Given the description of an element on the screen output the (x, y) to click on. 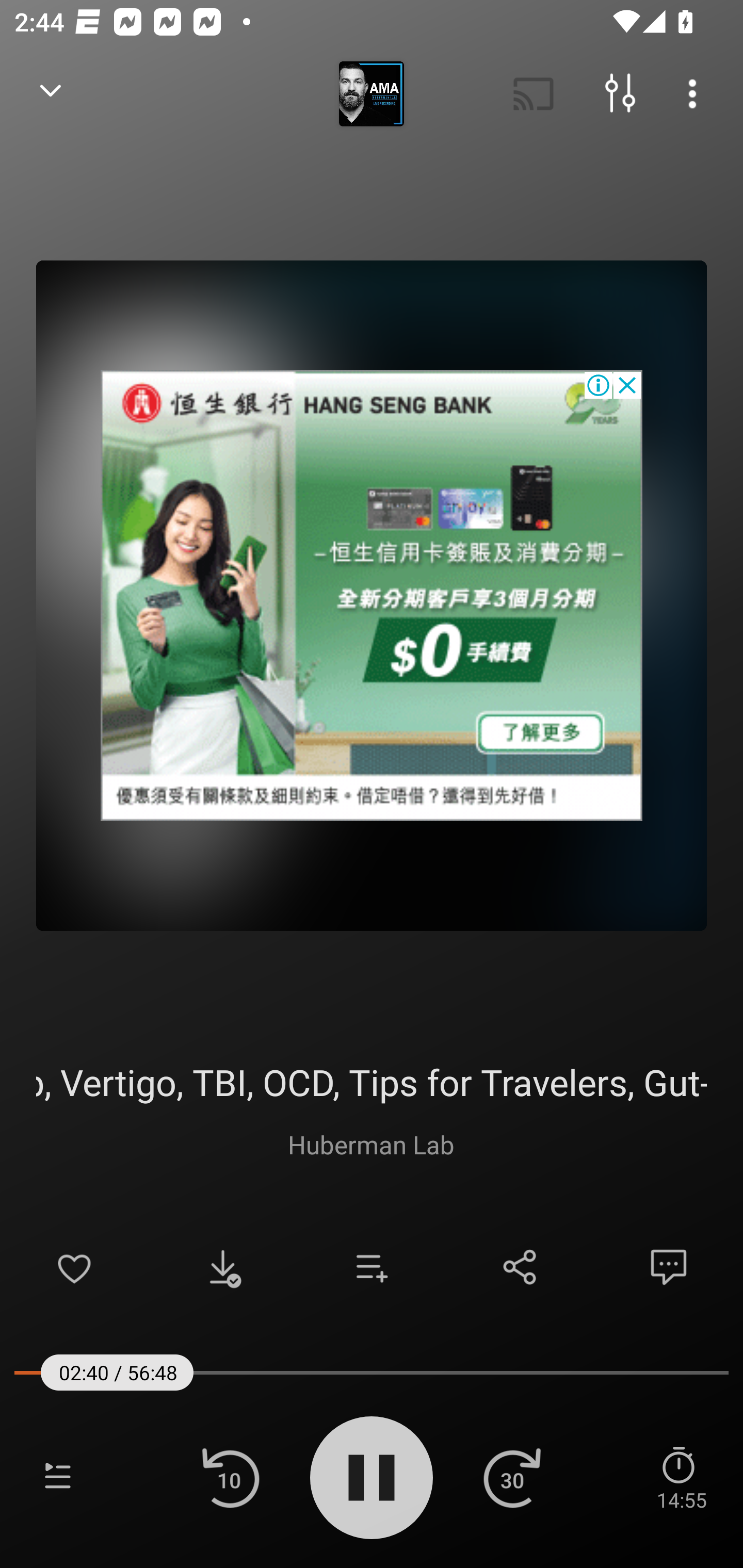
Cast. Disconnected (533, 93)
 Back (50, 94)
Advertisement (371, 595)
Advertisement (371, 595)
Advertisement (371, 595)
Advertisement (371, 595)
Huberman Lab (370, 1144)
Comments (668, 1266)
Add to Favorites (73, 1266)
Add to playlist (371, 1266)
Share (519, 1266)
Sleep Timer  14:55 (681, 1477)
 Playlist (57, 1477)
